Given the description of an element on the screen output the (x, y) to click on. 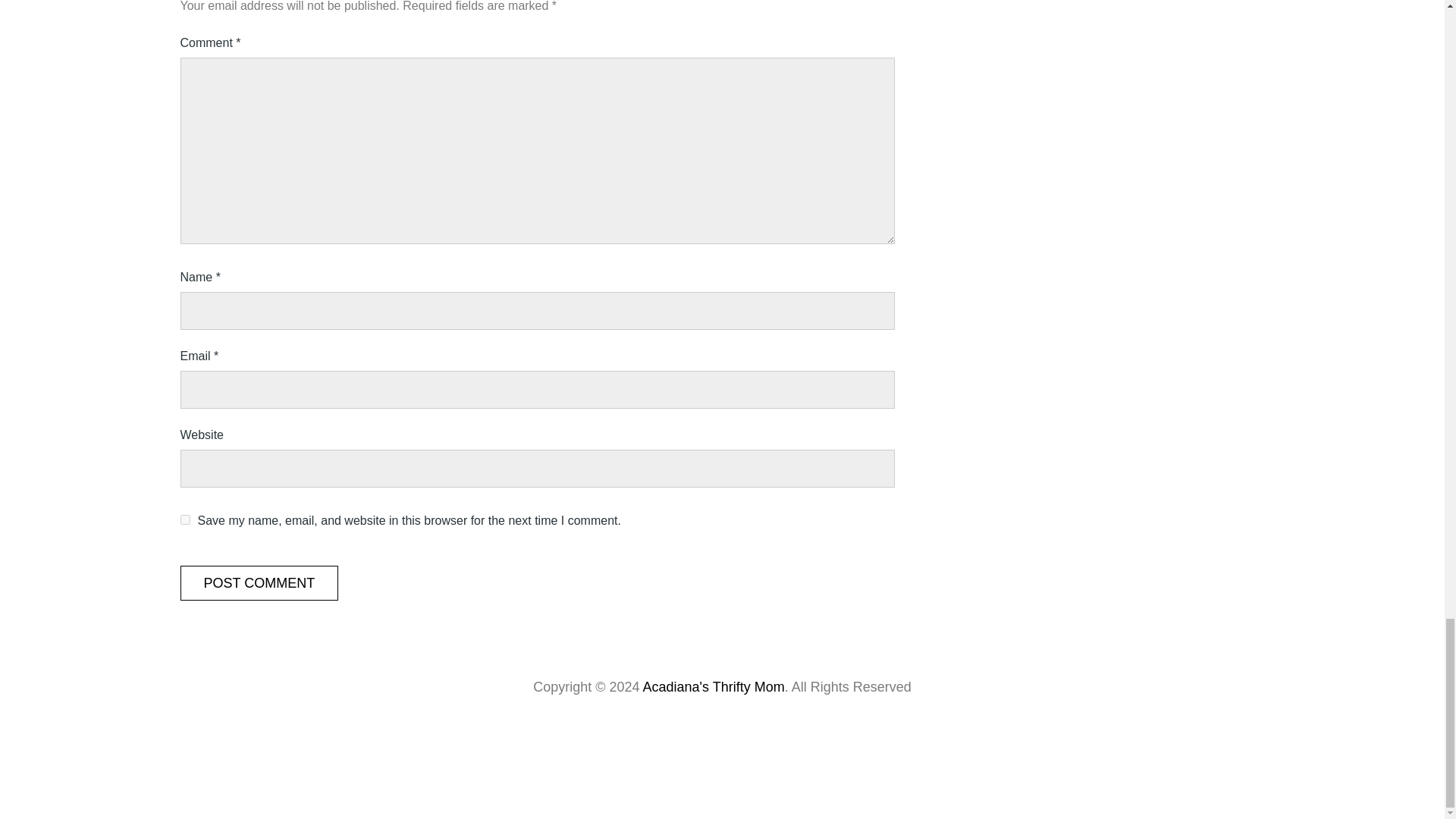
Verified by MonsterInsights (721, 761)
yes (185, 519)
Post Comment (259, 582)
